Given the description of an element on the screen output the (x, y) to click on. 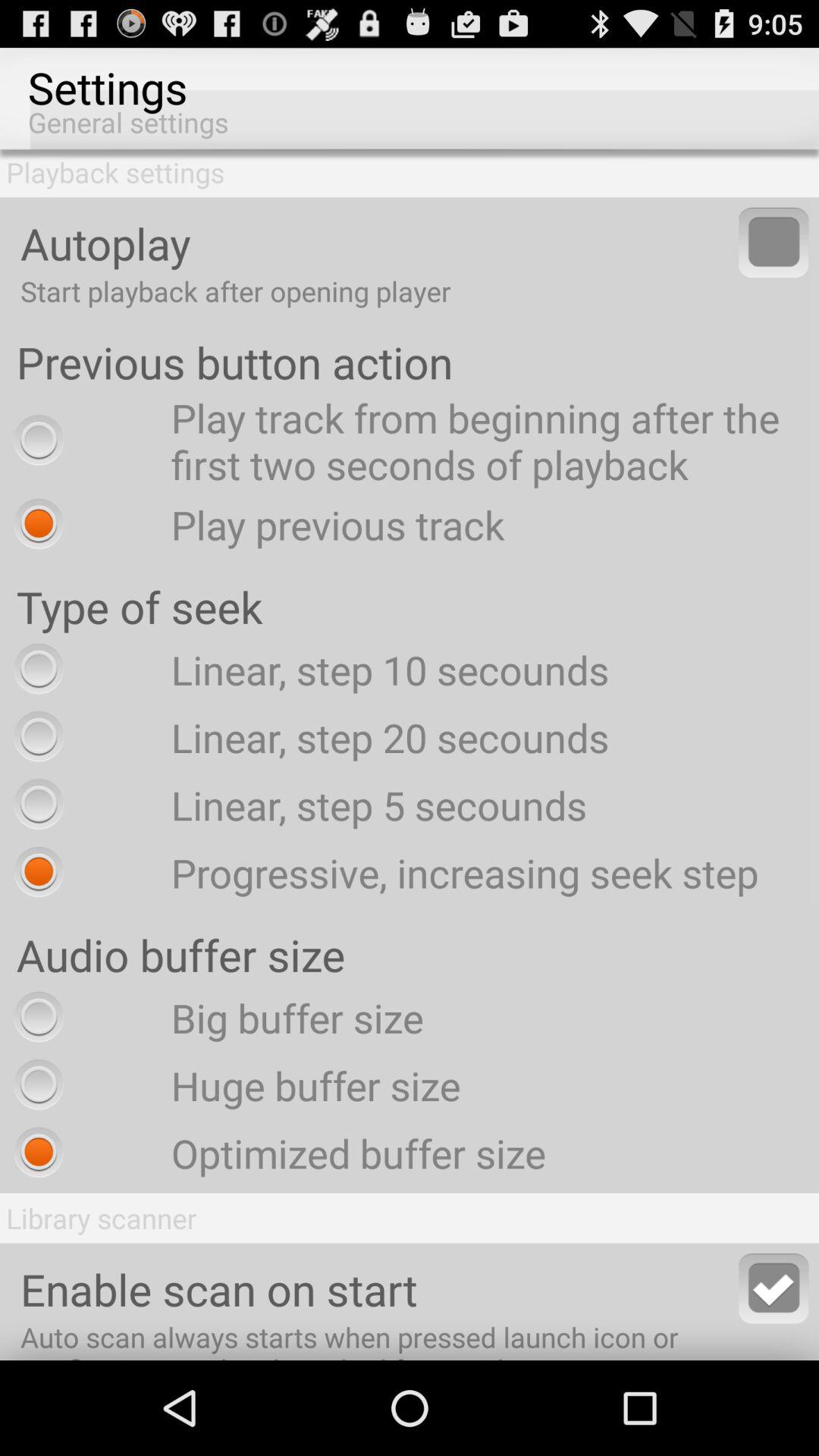
choose app above audio buffer size (382, 872)
